Given the description of an element on the screen output the (x, y) to click on. 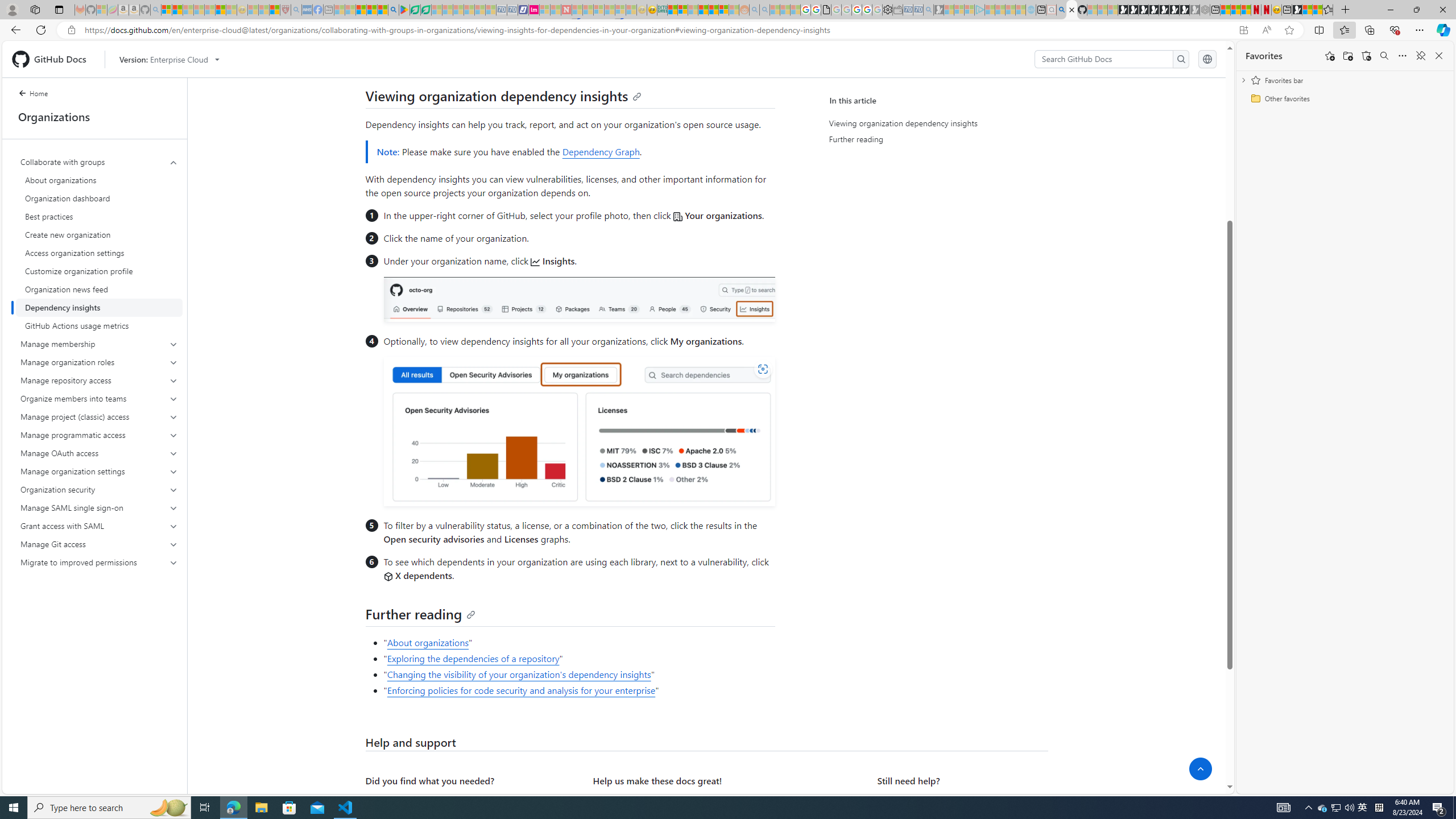
Exploring the dependencies of a repository (473, 658)
Migrate to improved permissions (99, 562)
github - Search (1061, 9)
Add this page to favorites (1330, 55)
GitHub Actions usage metrics (99, 325)
Customize organization profile (99, 271)
"About organizations" (578, 642)
Dependency insights (99, 307)
Migrate to improved permissions (99, 562)
